Given the description of an element on the screen output the (x, y) to click on. 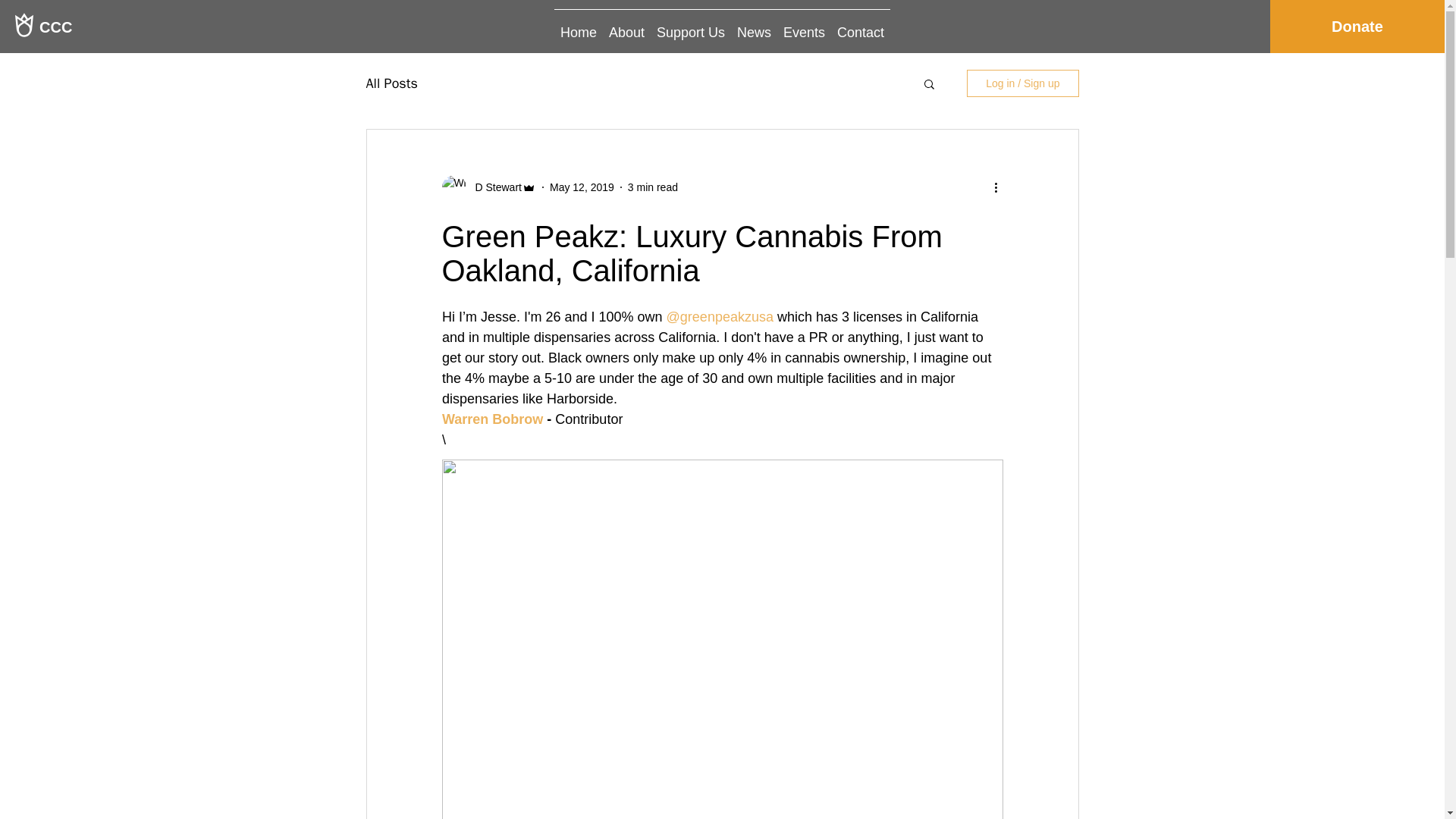
CCC (90, 26)
Home (578, 26)
Contact (860, 26)
News (753, 26)
May 12, 2019 (582, 186)
Warren Bobrow (491, 418)
All Posts (390, 83)
About (626, 26)
D Stewart (493, 186)
3 min read (652, 186)
